Given the description of an element on the screen output the (x, y) to click on. 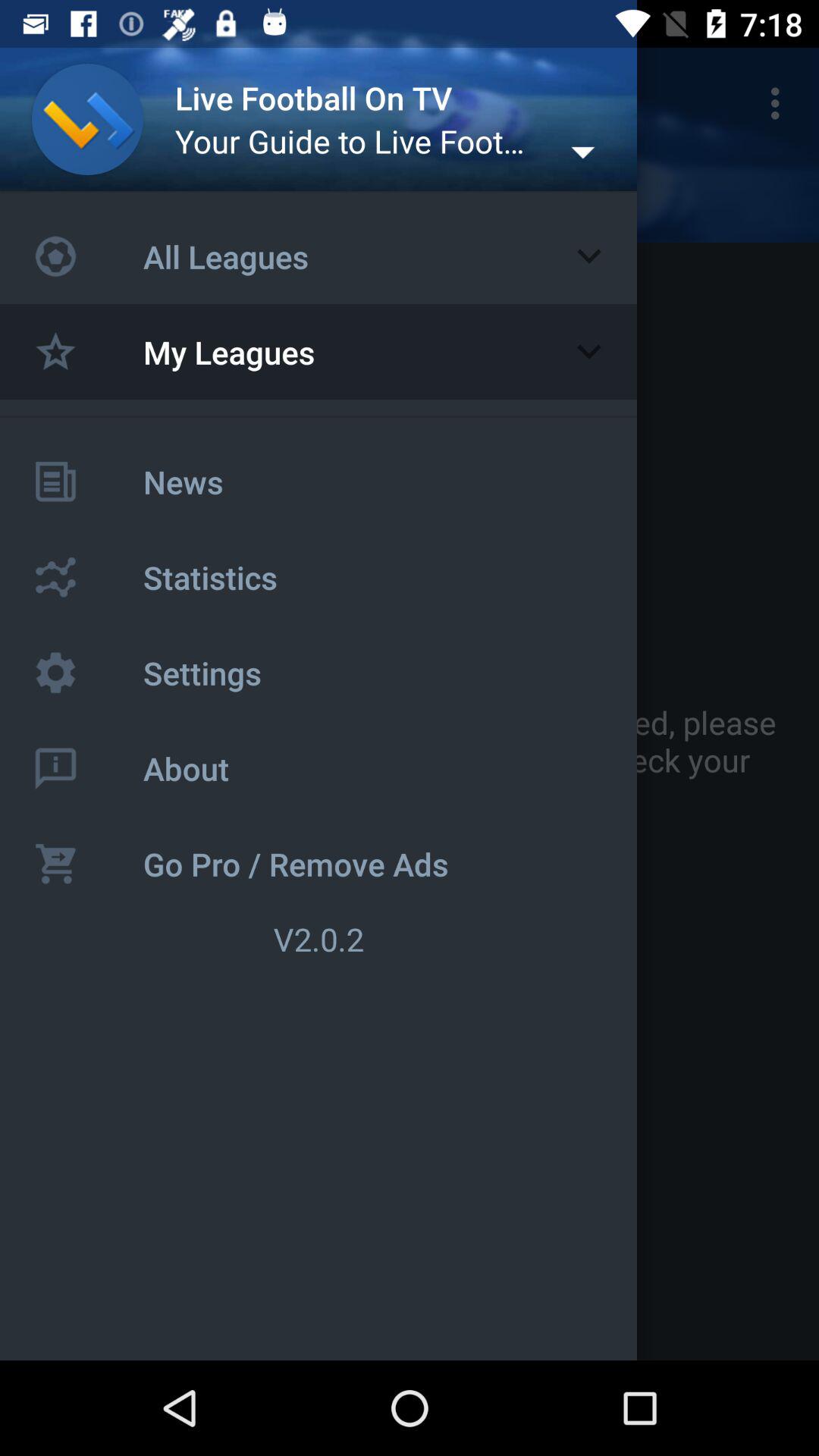
open item to the left of the live football on icon (55, 103)
